Given the description of an element on the screen output the (x, y) to click on. 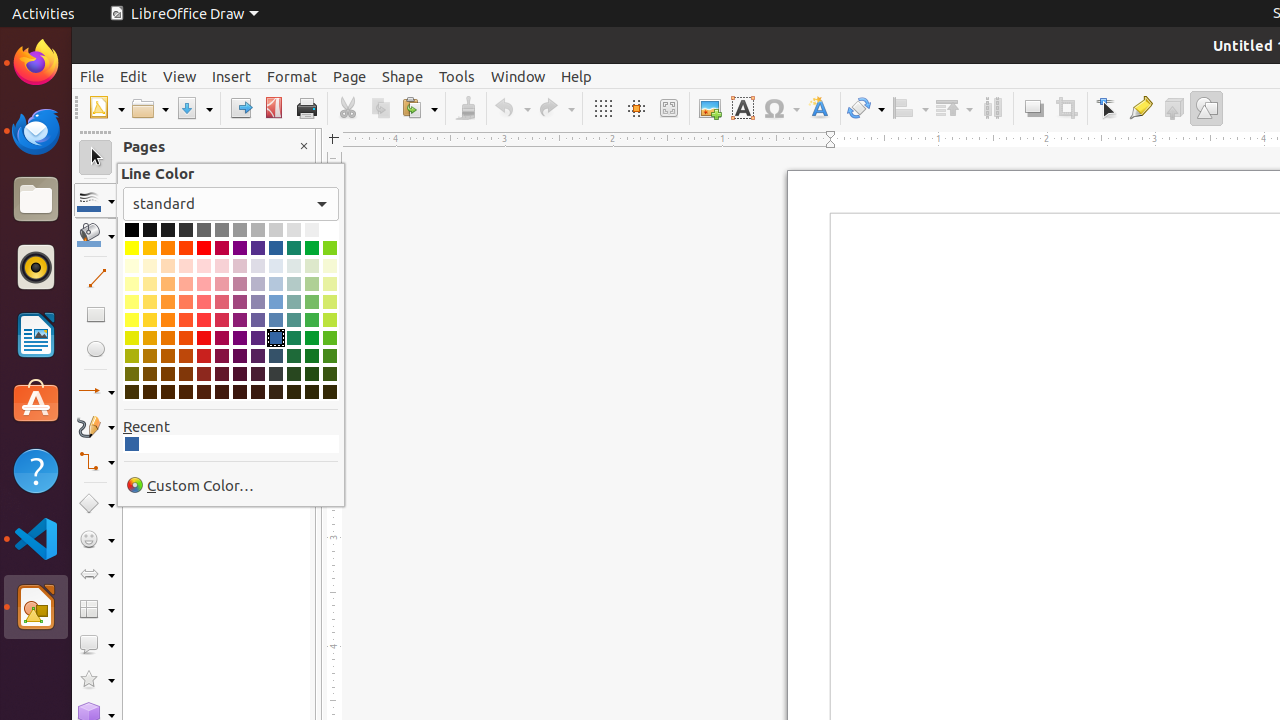
Light Indigo 4 Element type: list-item (258, 266)
Light Red 4 Element type: list-item (204, 266)
Light Teal 1 Element type: list-item (294, 320)
Dark Purple 2 Element type: list-item (240, 356)
Transformations Element type: push-button (866, 108)
